Given the description of an element on the screen output the (x, y) to click on. 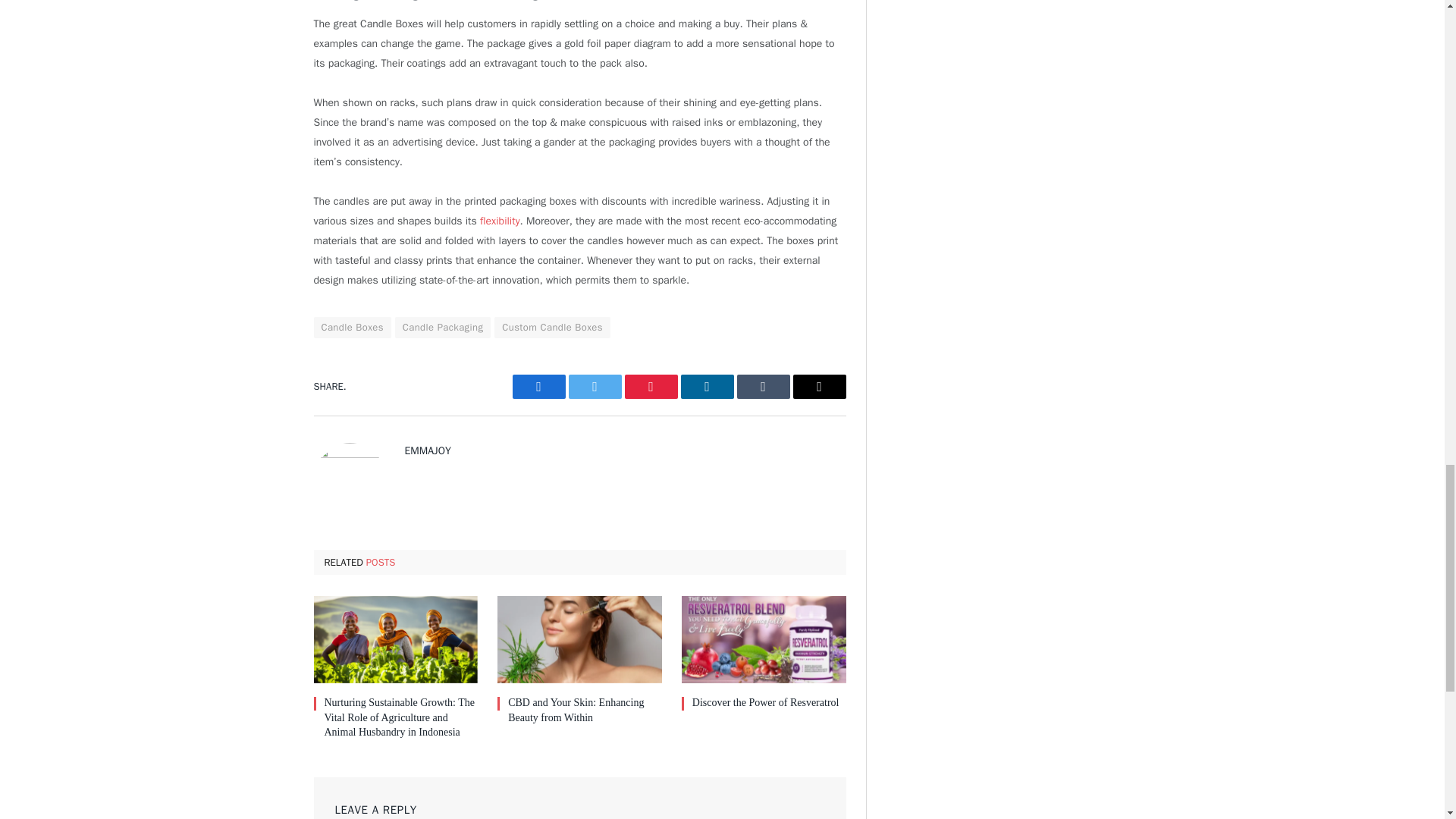
Candle Packaging (442, 327)
Share on Facebook (539, 386)
Candle Boxes (352, 327)
flexibility (499, 220)
Facebook (539, 386)
Custom Candle Boxes (552, 327)
